Given the description of an element on the screen output the (x, y) to click on. 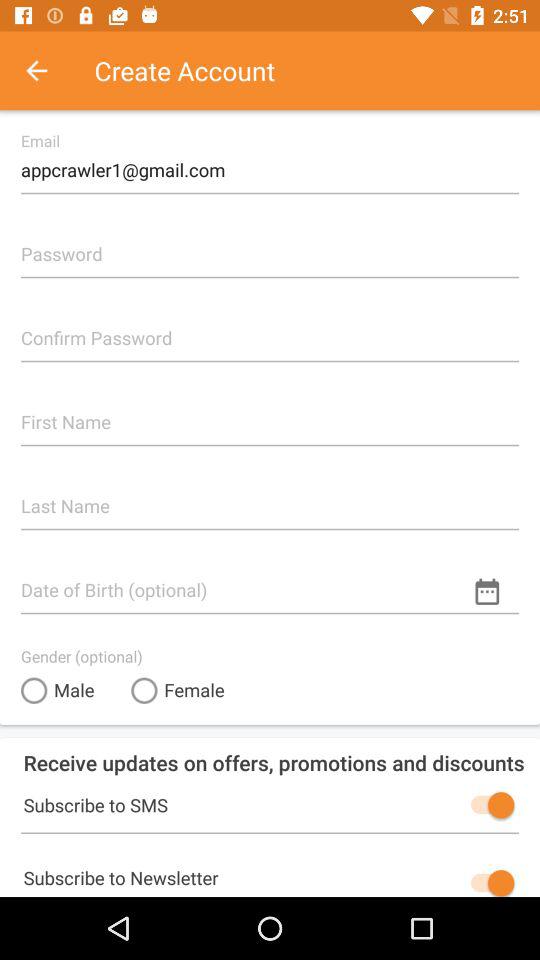
it is used to login our data by using our first name for better protection (270, 413)
